Given the description of an element on the screen output the (x, y) to click on. 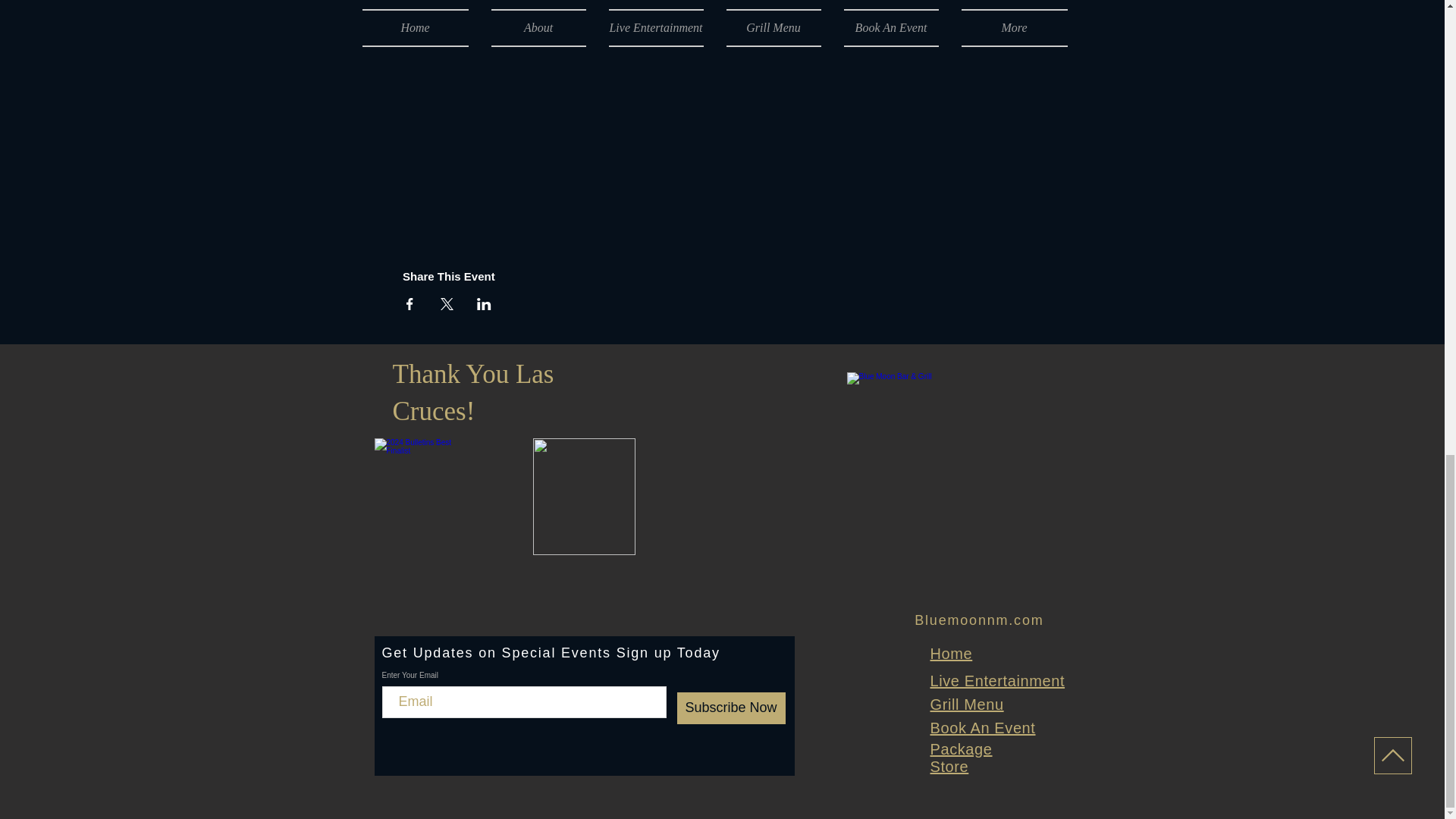
Home (951, 653)
Book An Event (982, 727)
Bluemoonnm.com (978, 620)
Live Entertainment (997, 680)
Grill Menu (966, 704)
Subscribe Now (730, 707)
BlueMoonlogo.png (953, 460)
Package Store (960, 757)
